Given the description of an element on the screen output the (x, y) to click on. 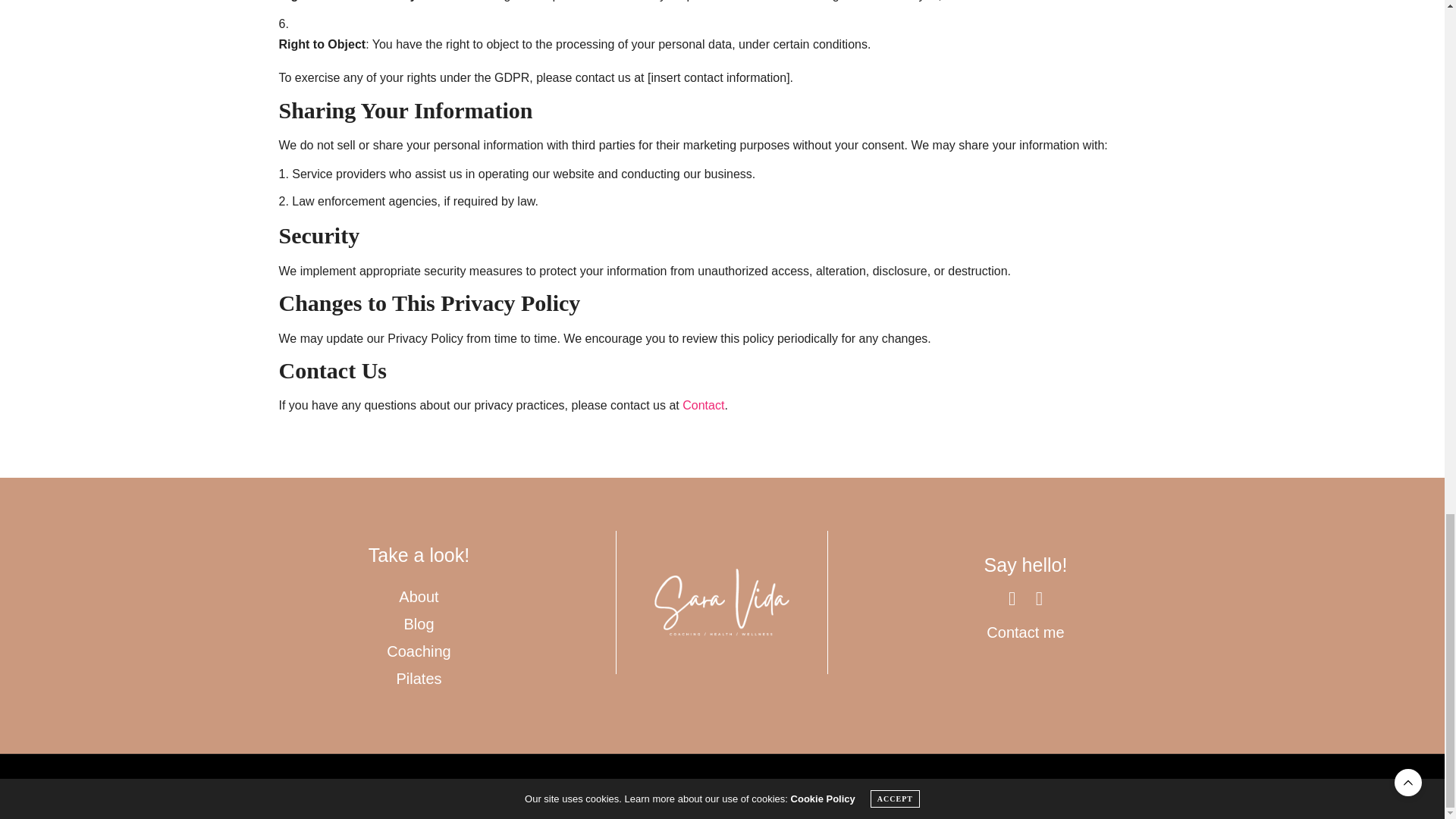
Pilates (418, 678)
TERMS AND CONDITIONS (885, 788)
PRIVACY POLICY (630, 788)
Contact (702, 404)
Coaching (419, 651)
Contact me (1025, 632)
COOKIE POLICY (537, 788)
Blog (418, 623)
ACCESSIBILITY STATEMENT (747, 788)
About (418, 596)
